Given the description of an element on the screen output the (x, y) to click on. 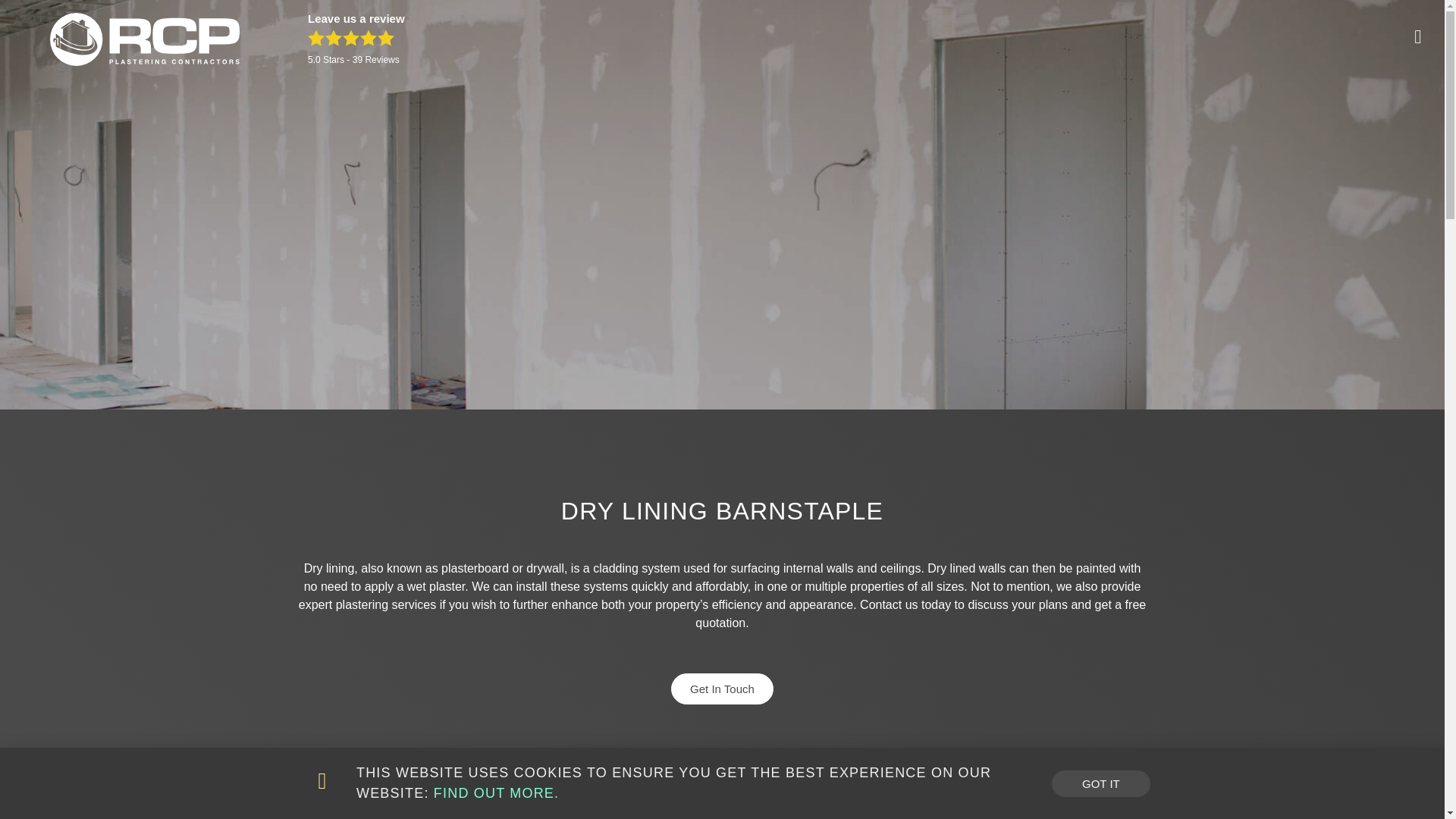
GOT IT (1100, 772)
FIND OUT MORE. (496, 782)
Get In Touch (722, 707)
